Given the description of an element on the screen output the (x, y) to click on. 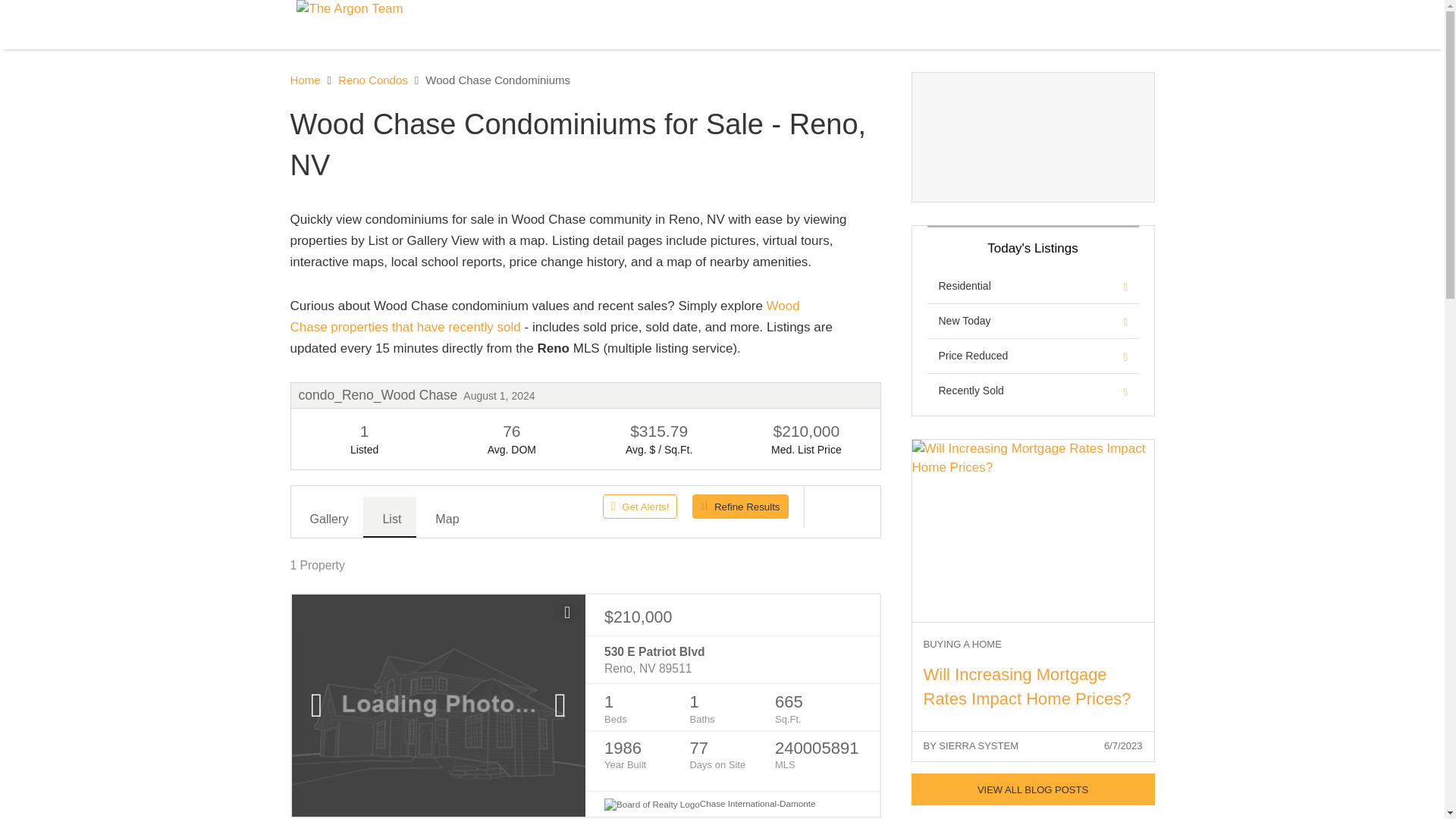
530 E Patriot Blvd Reno,  NV 89511 (732, 660)
